Given the description of an element on the screen output the (x, y) to click on. 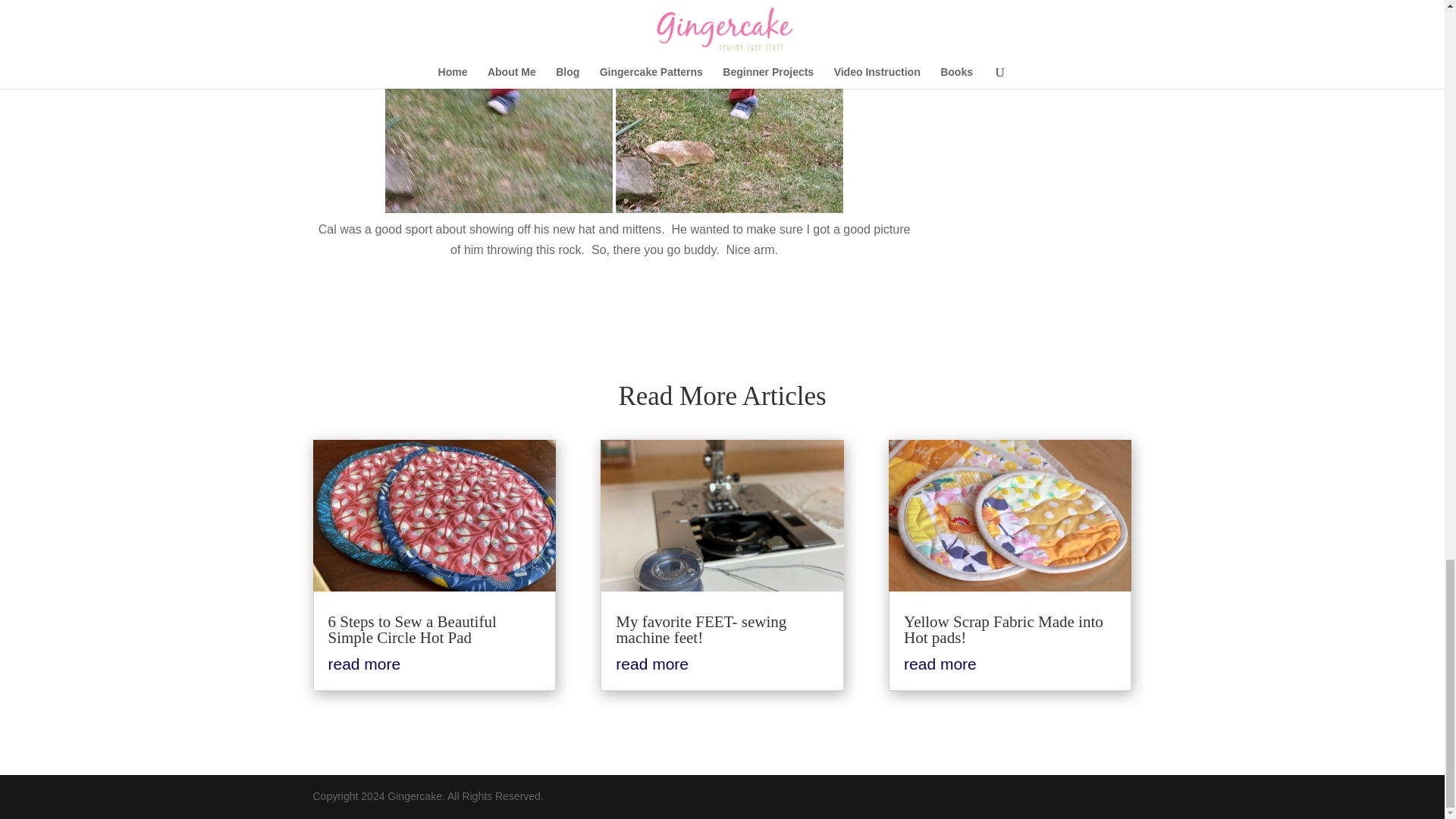
My favorite FEET- sewing machine feet! (700, 629)
read more (363, 663)
read more (651, 663)
6 Steps to Sew a Beautiful Simple Circle Hot Pad (411, 629)
